Given the description of an element on the screen output the (x, y) to click on. 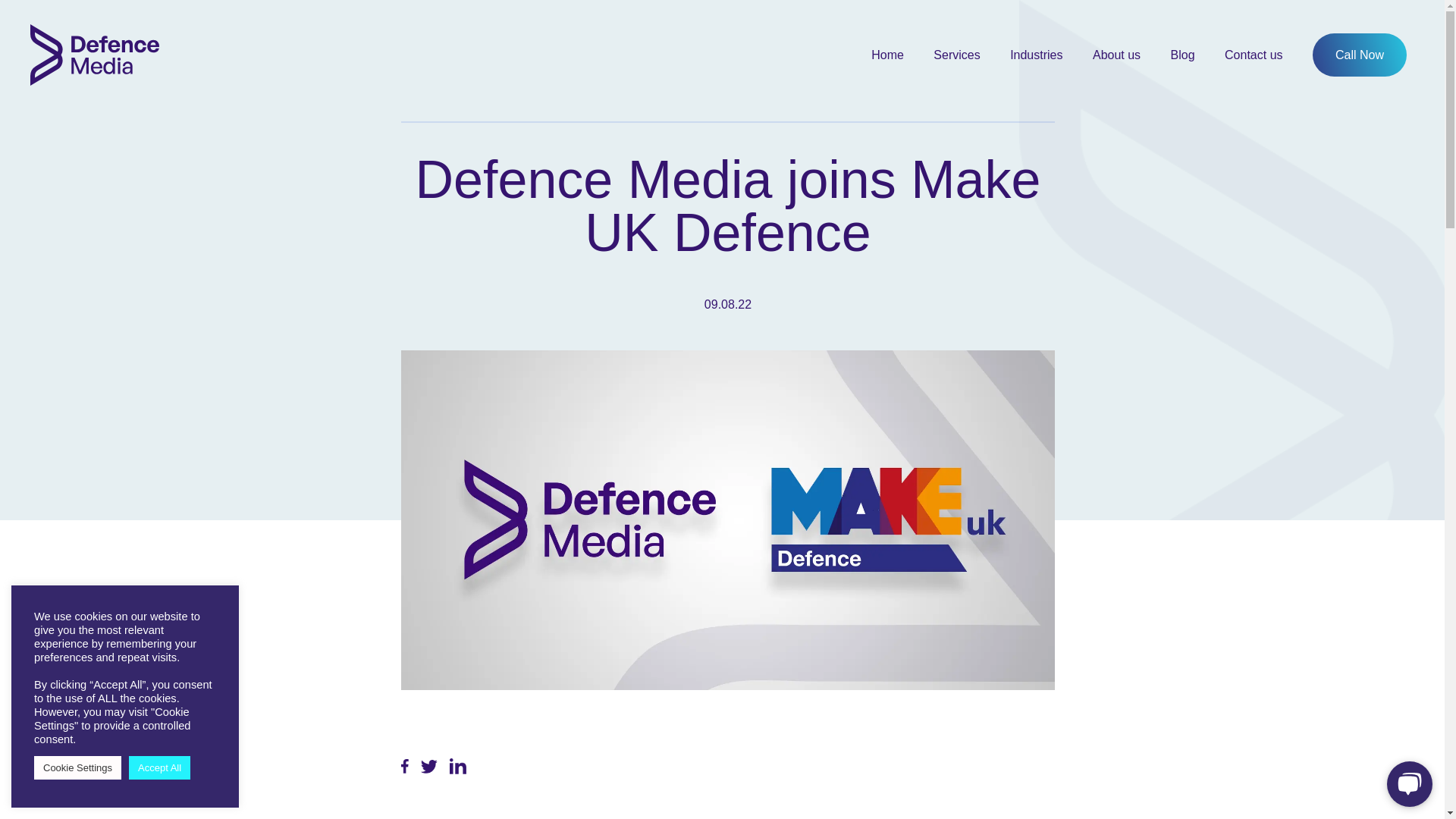
Defence Media (95, 55)
Blog (1182, 54)
Home (887, 54)
Chat Widget (1406, 782)
Industries (1036, 54)
Contact us (1253, 54)
About us (1116, 54)
Call Now (1359, 54)
Services (956, 54)
